Given the description of an element on the screen output the (x, y) to click on. 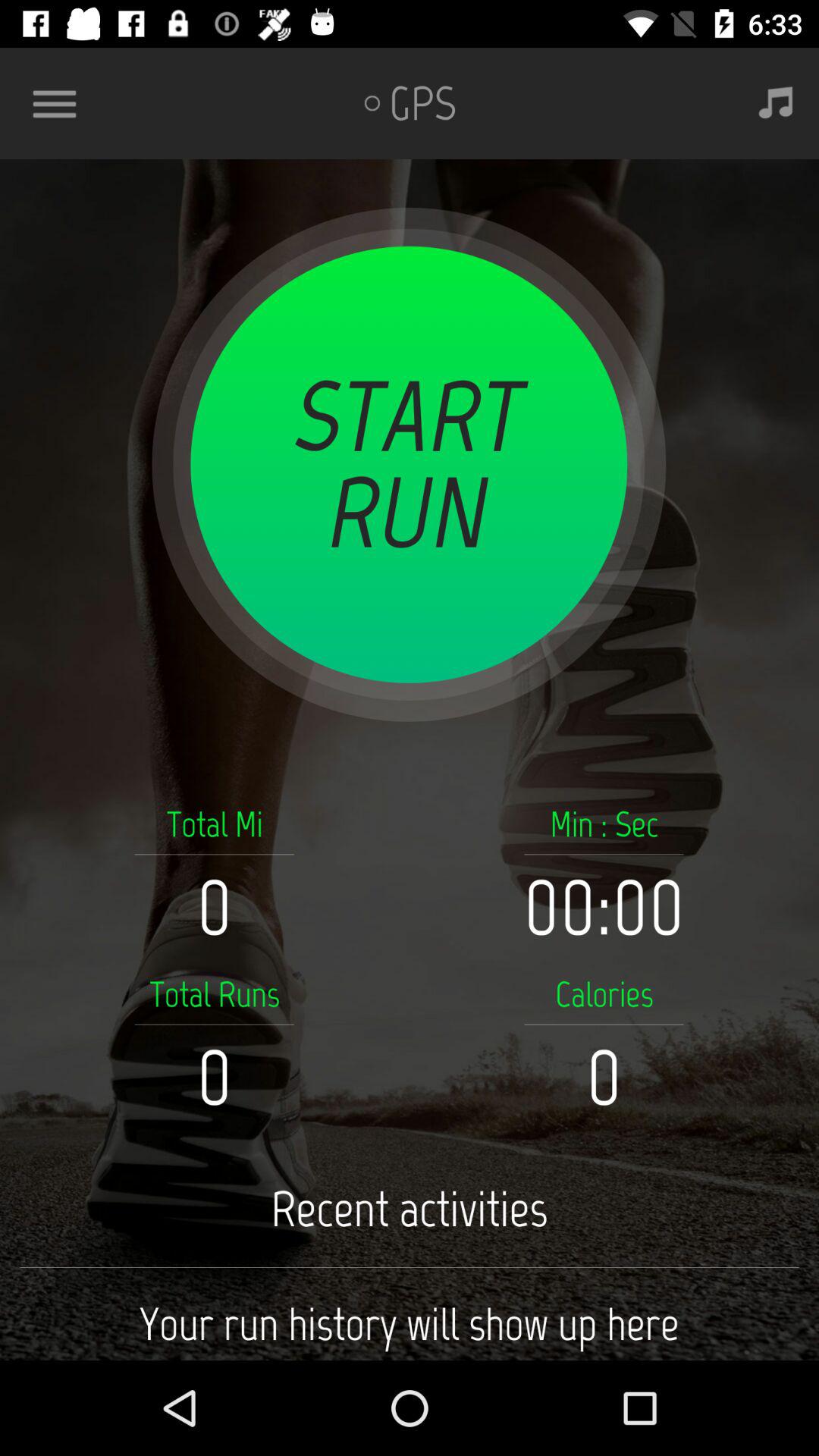
tap item next to gps (776, 103)
